Given the description of an element on the screen output the (x, y) to click on. 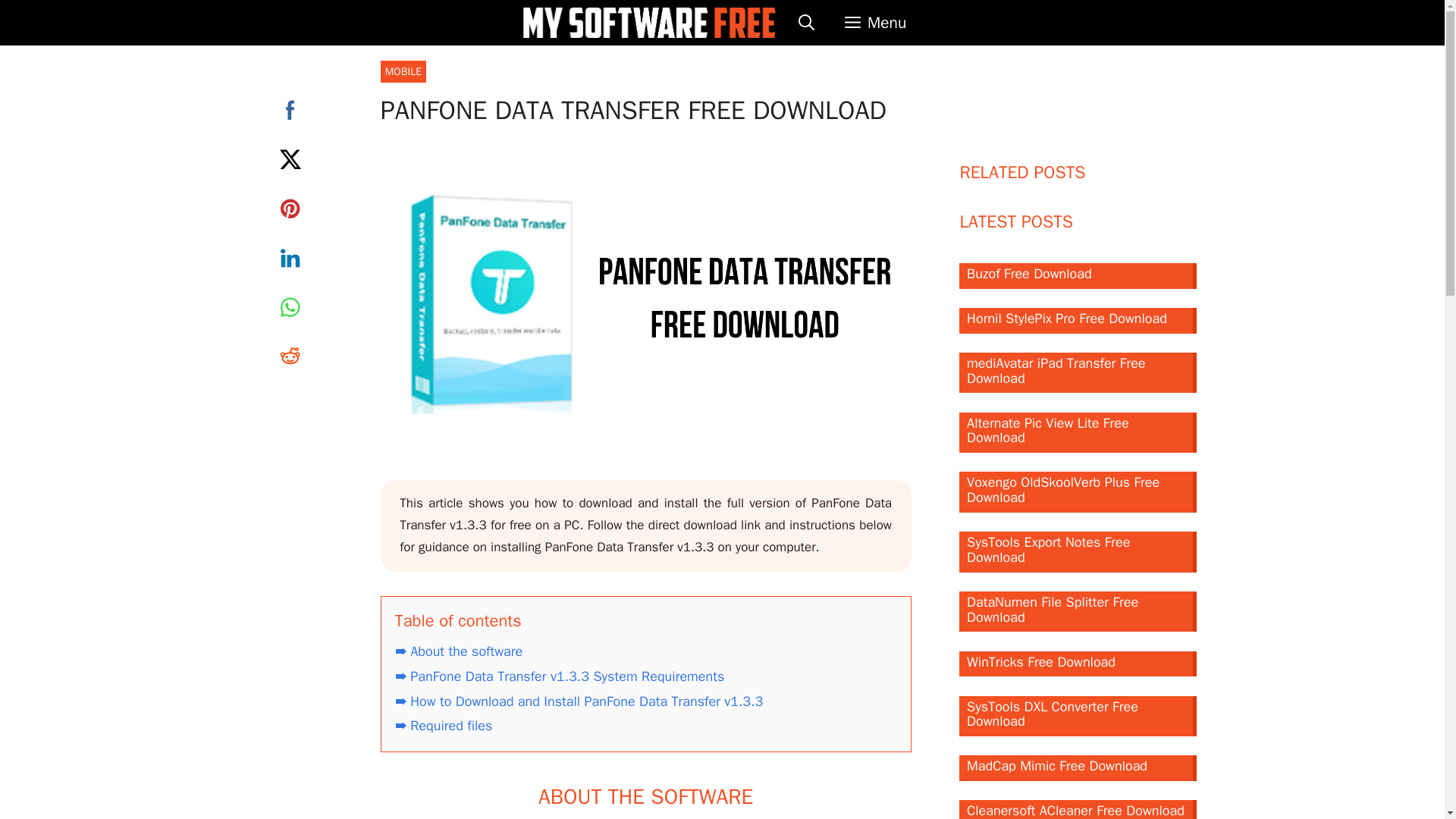
About the software (458, 651)
Pinterest (289, 208)
mediAvatar iPad Transfer Free Download (1077, 372)
SysTools DXL Converter Free Download (1077, 716)
Twitter (289, 159)
LinkedIn (289, 257)
WhatsApp (289, 306)
MOBILE (403, 71)
MadCap Mimic Free Download (1077, 768)
Hornil StylePix Pro Free Download (1077, 320)
SysTools Export Notes Free Download (1077, 551)
Alternate Pic View Lite Free Download (1077, 432)
DataNumen File Splitter Free Download (1077, 611)
Buzof Free Download (1077, 275)
Menu (875, 22)
